Given the description of an element on the screen output the (x, y) to click on. 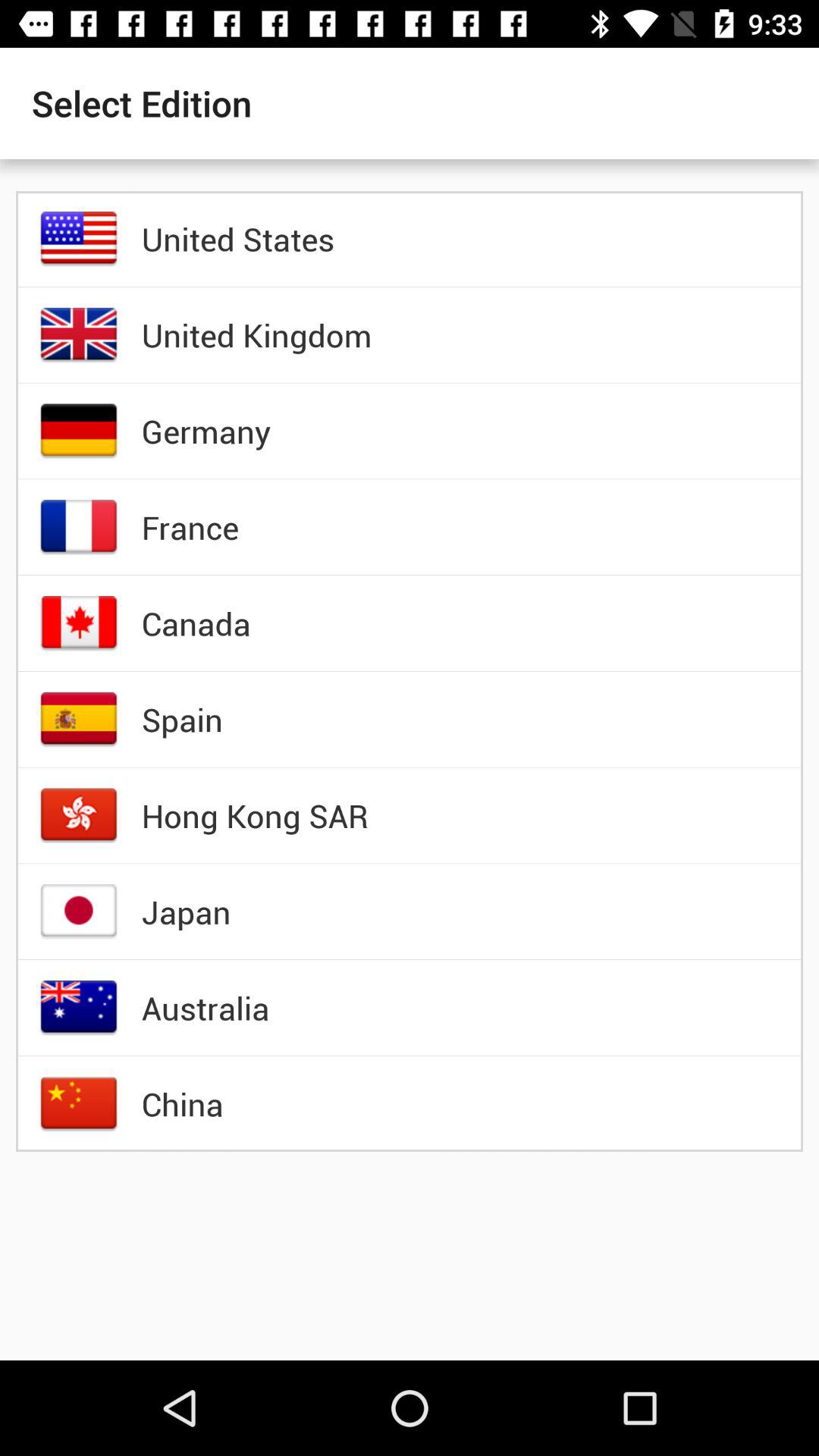
select the item below the united states (256, 334)
